Given the description of an element on the screen output the (x, y) to click on. 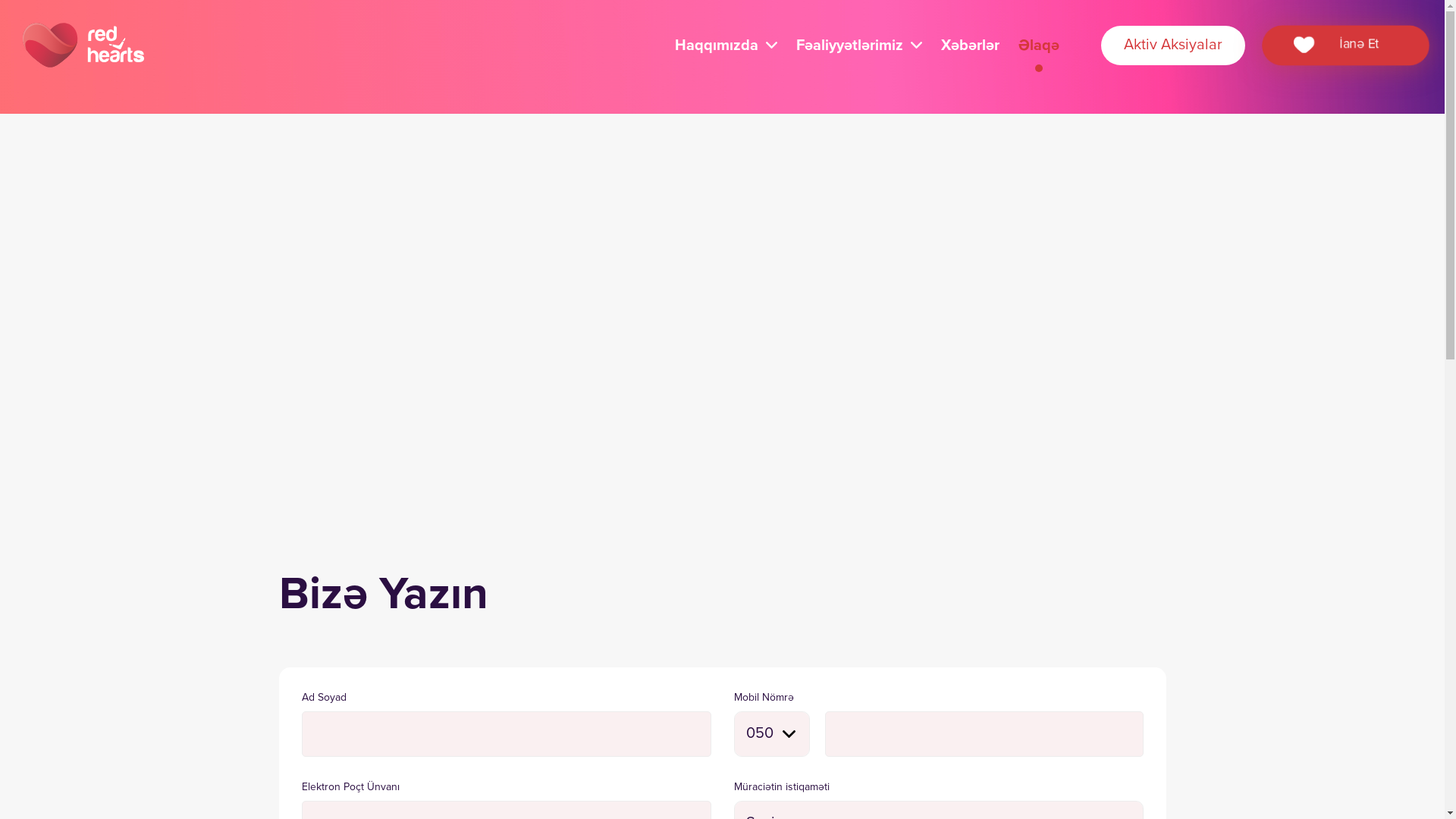
Aktiv Aksiyalar Element type: text (1173, 45)
